Given the description of an element on the screen output the (x, y) to click on. 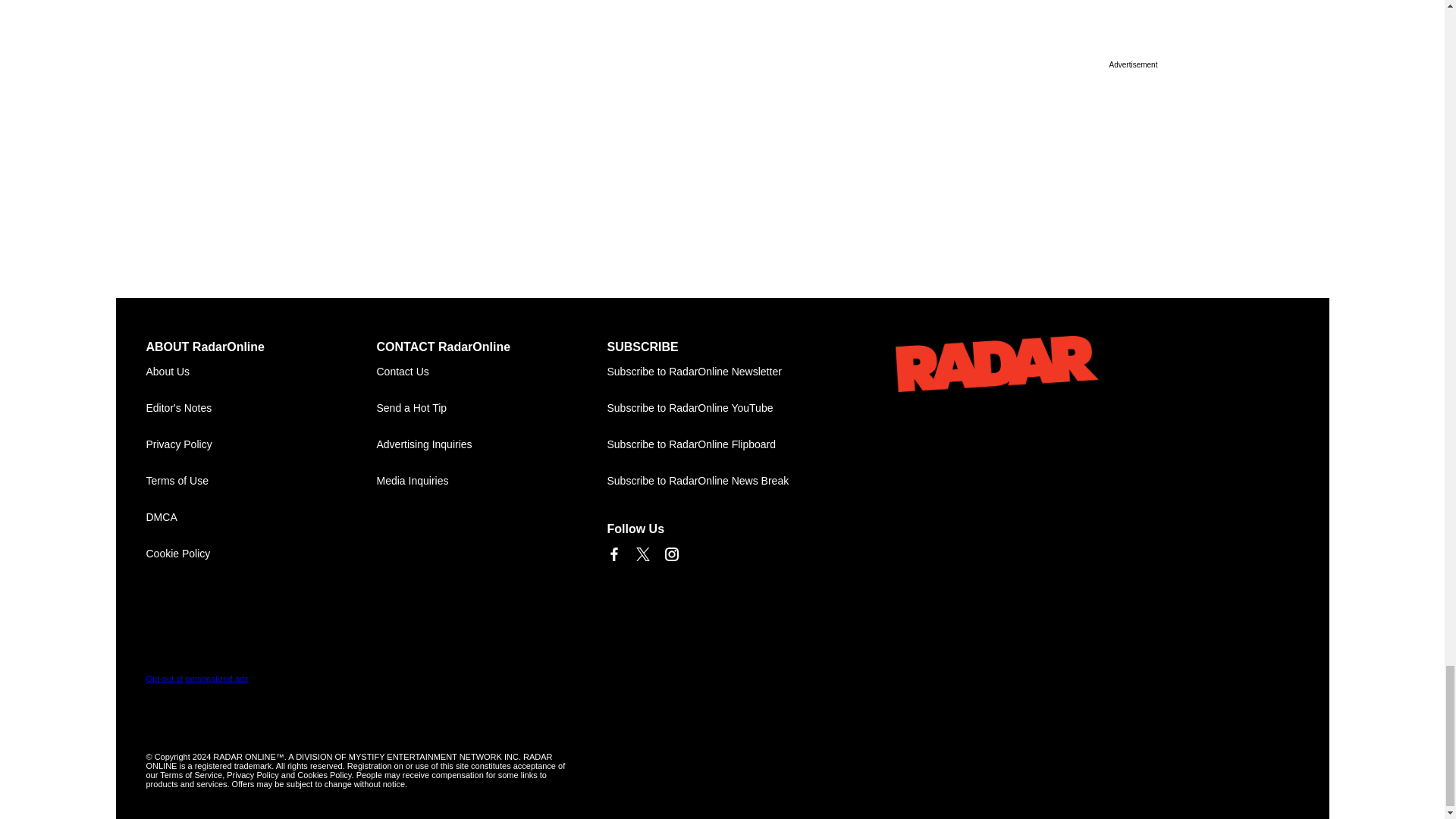
Subscribe (722, 371)
Send a Hot Tip (491, 408)
Advertising Inquiries (491, 444)
Media Inquiries (491, 481)
Advertising Inquiries (491, 444)
Cookie Policy (260, 554)
Link to Instagram (670, 554)
Contact Us (491, 371)
Terms of Use (260, 481)
Privacy Policy (260, 444)
DMCA (260, 517)
Link to X (641, 554)
Media Inquiries (491, 481)
Editor's Notes (260, 408)
Terms of Use (260, 481)
